Given the description of an element on the screen output the (x, y) to click on. 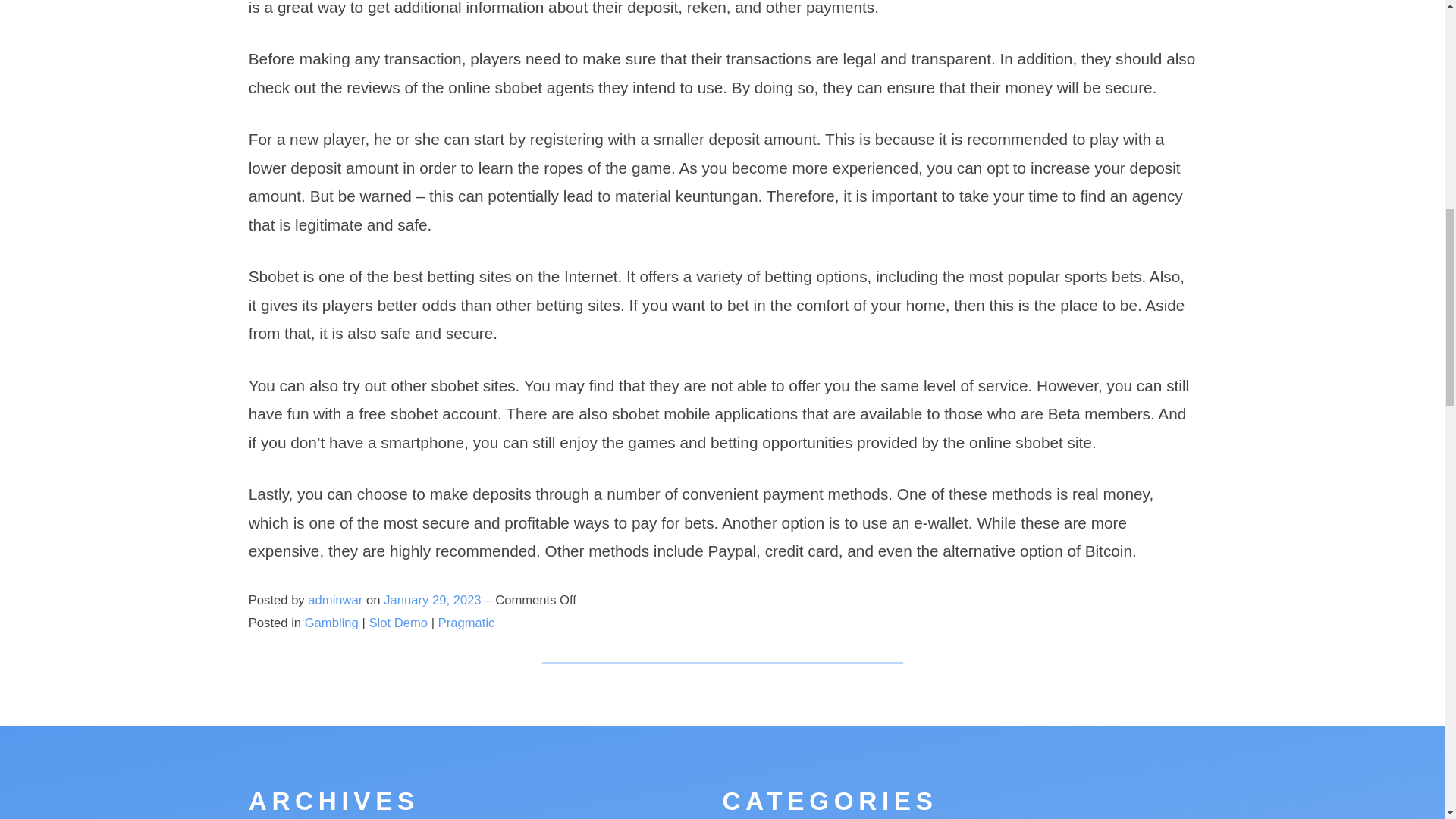
January 29, 2023 (434, 599)
adminwar (334, 599)
Slot Demo (399, 622)
Gambling (331, 622)
Pragmatic (466, 622)
